Given the description of an element on the screen output the (x, y) to click on. 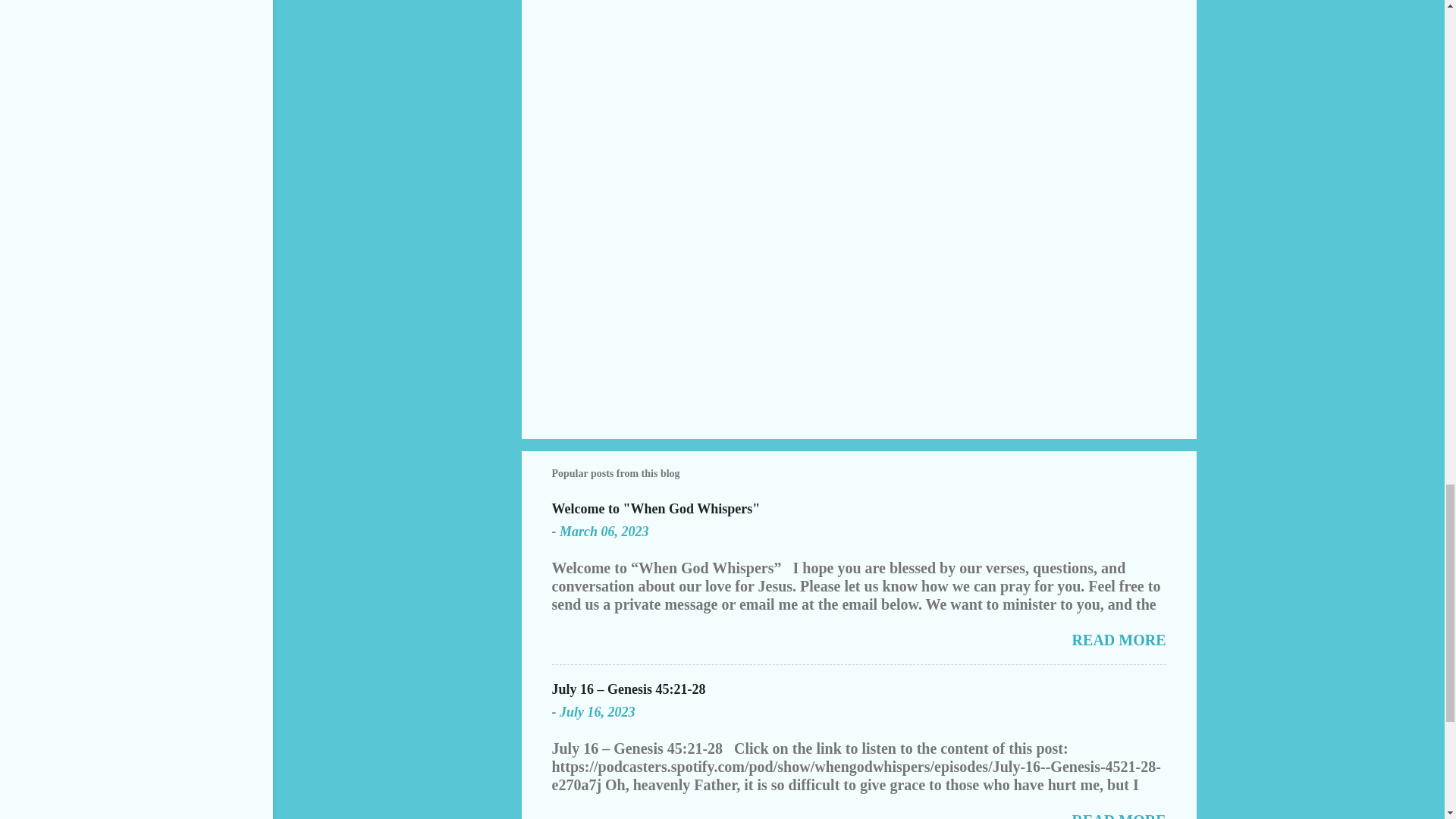
permanent link (604, 531)
March 06, 2023 (604, 531)
July 16, 2023 (596, 711)
READ MORE (1118, 815)
Welcome to "When God Whispers" (655, 508)
READ MORE (1118, 639)
